Given the description of an element on the screen output the (x, y) to click on. 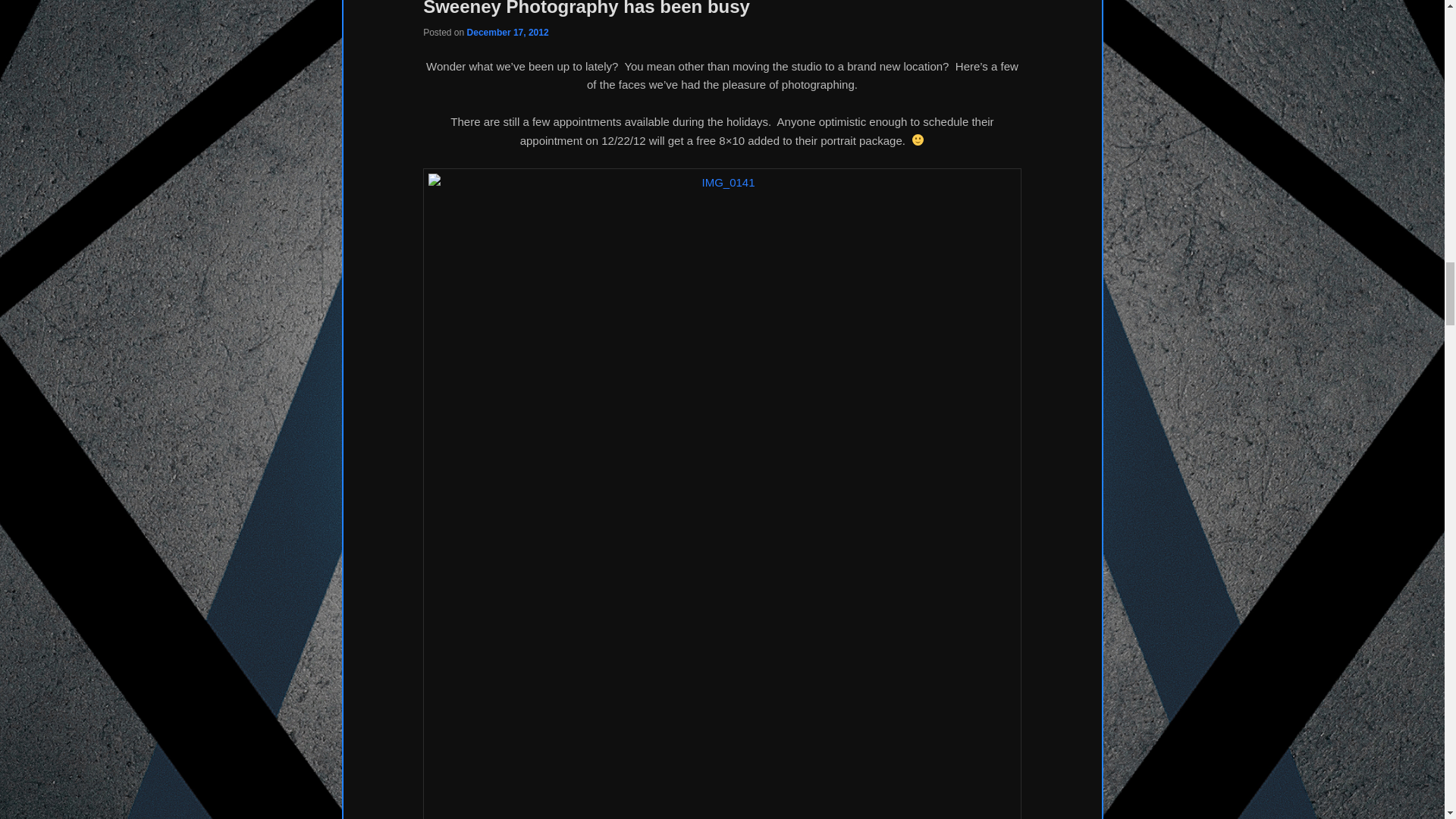
7:47 pm (507, 32)
